Given the description of an element on the screen output the (x, y) to click on. 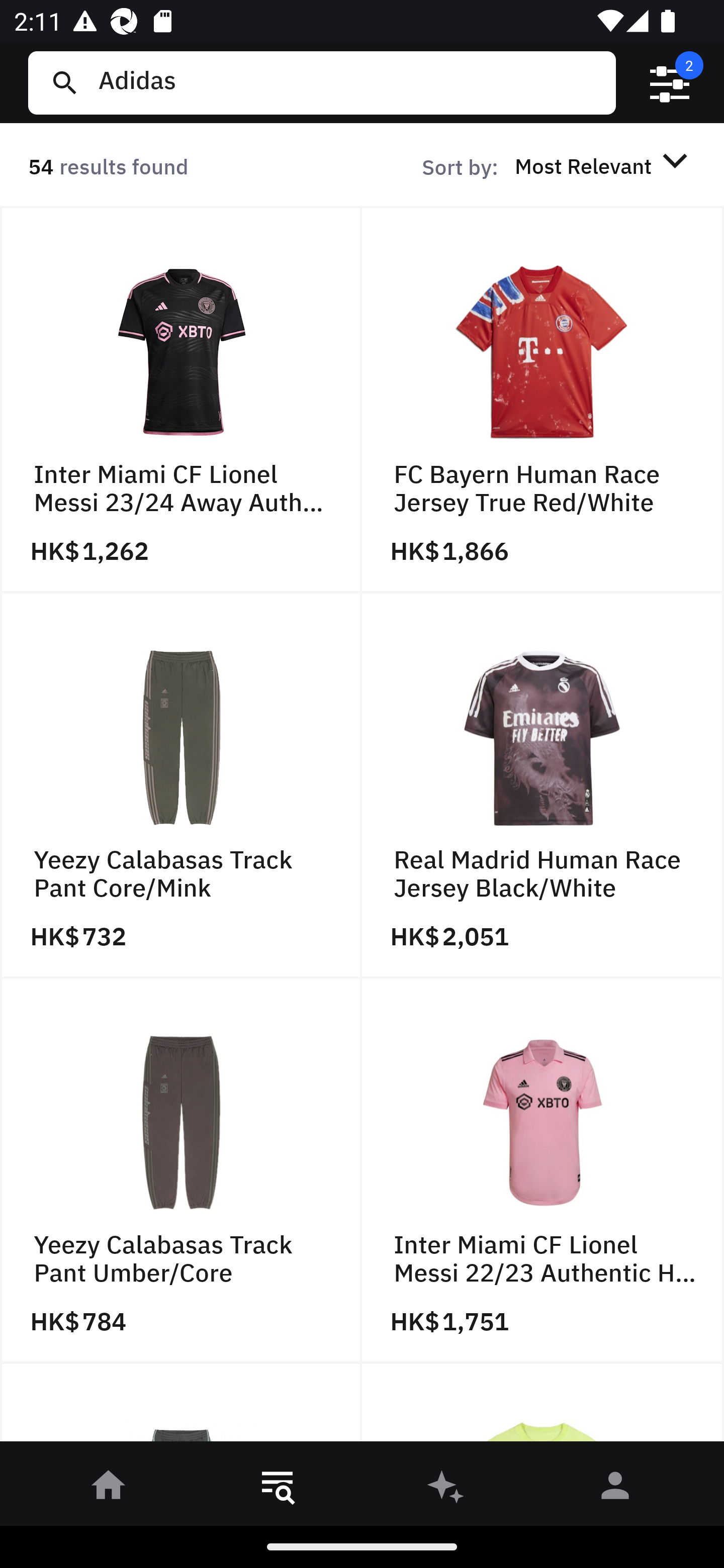
Adidas (349, 82)
 (669, 82)
Most Relevant  (604, 165)
Yeezy Calabasas Track Pant Core/Mink HK$ 732 (181, 785)
Yeezy Calabasas Track Pant Umber/Core HK$ 784 (181, 1171)
󰋜 (108, 1488)
󱎸 (277, 1488)
󰫢 (446, 1488)
󰀄 (615, 1488)
